Given the description of an element on the screen output the (x, y) to click on. 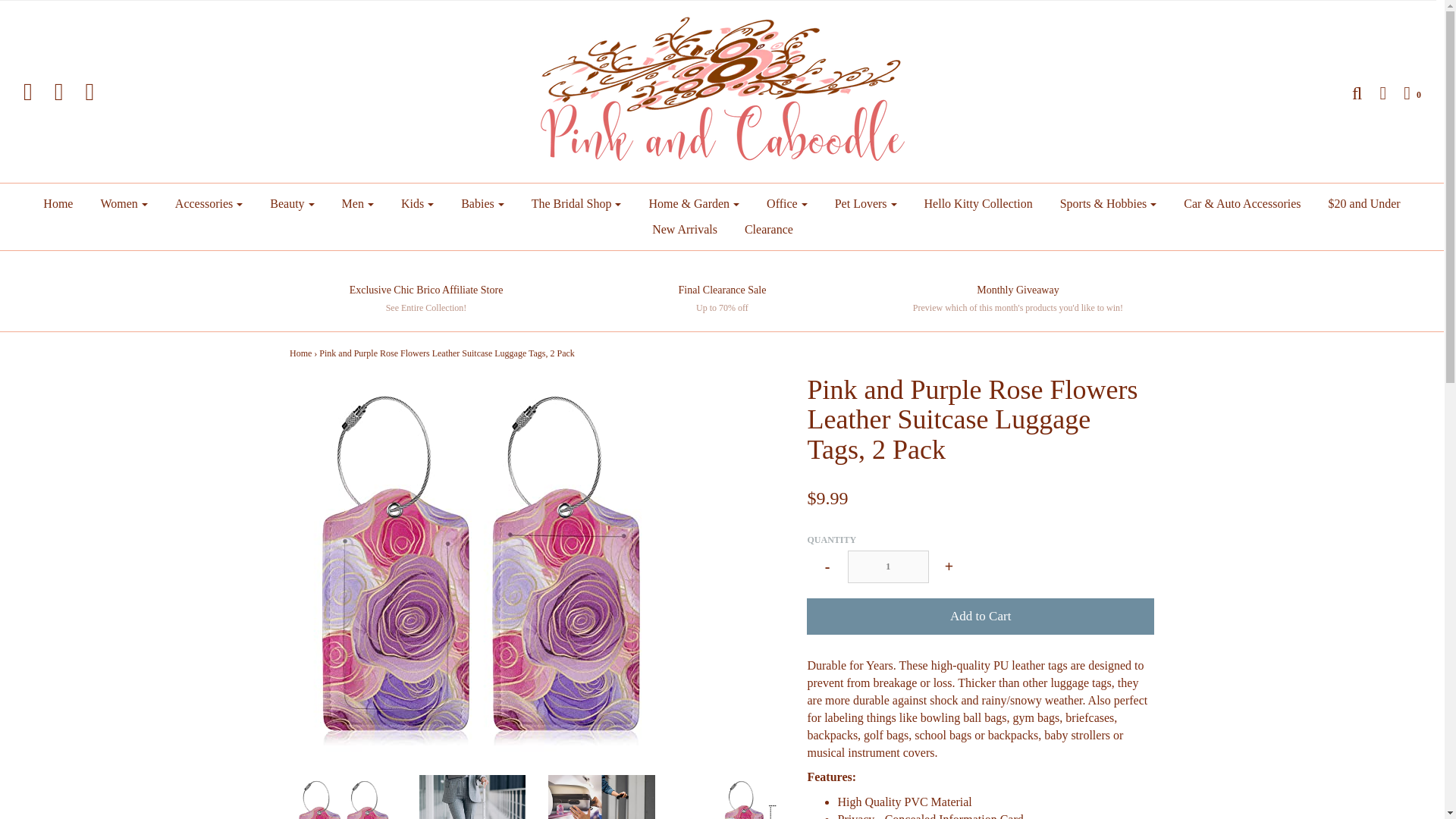
Your Cart (1405, 92)
Log in (1375, 92)
Back to the Home Page (300, 353)
Search (1348, 92)
1 (887, 566)
